Given the description of an element on the screen output the (x, y) to click on. 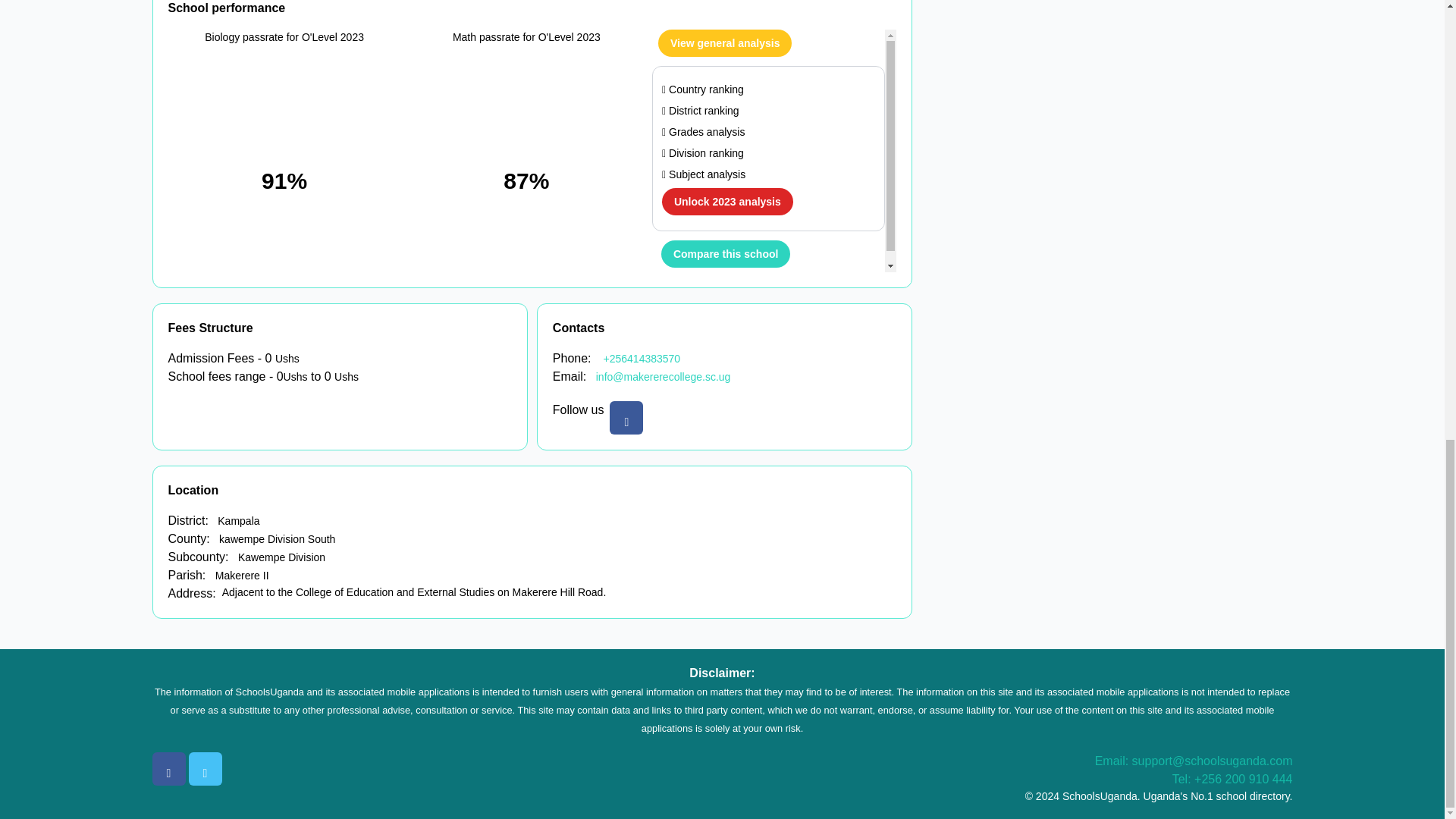
View general analysis (725, 42)
View general analysis (724, 43)
Compare this school (724, 253)
Unlock 2023 analysis (727, 201)
Compare this school (725, 253)
Unlock 2023 analysis (727, 201)
